Given the description of an element on the screen output the (x, y) to click on. 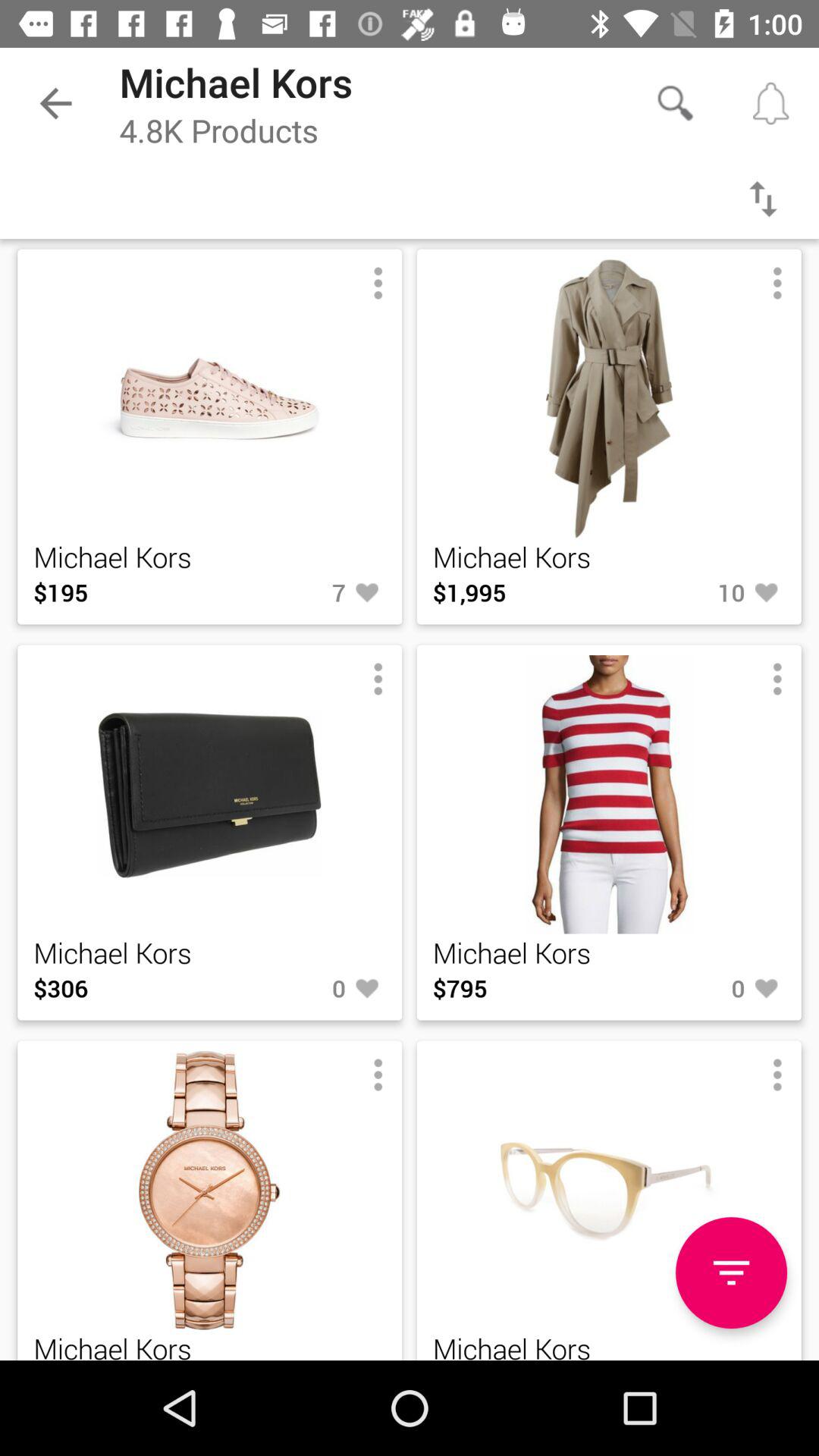
select the item next to michael kors item (55, 103)
